Given the description of an element on the screen output the (x, y) to click on. 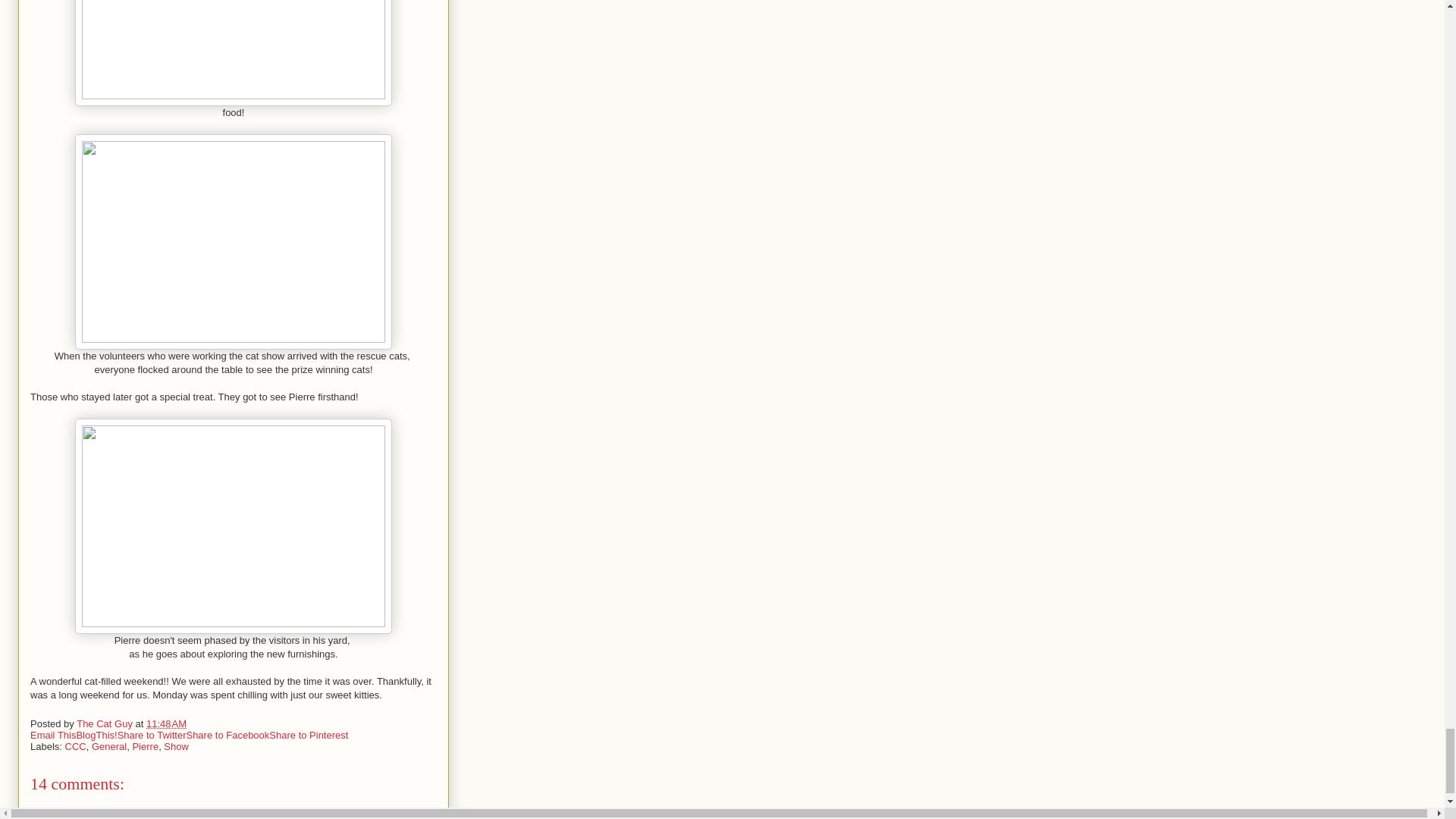
permanent link (166, 723)
Share to Twitter (151, 735)
BlogThis! (95, 735)
Email Post (196, 723)
Share to Facebook (227, 735)
author profile (106, 723)
Share to Pinterest (308, 735)
Email This (52, 735)
